Given the description of an element on the screen output the (x, y) to click on. 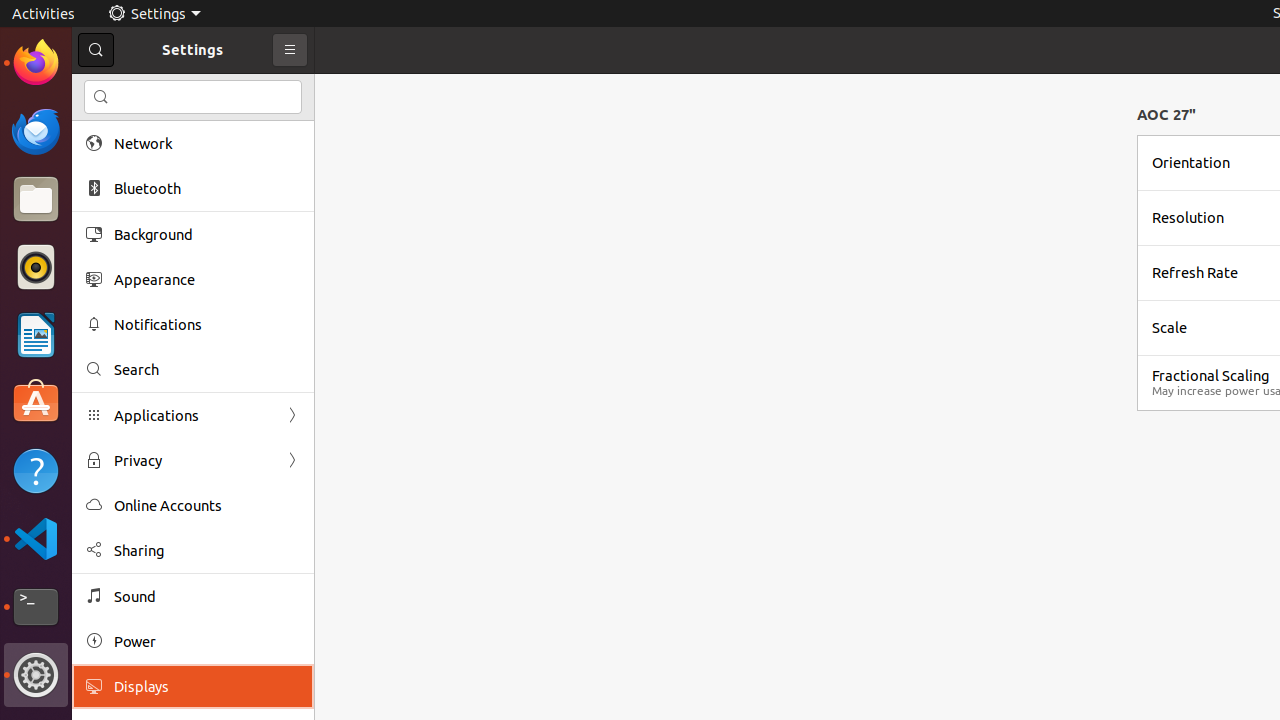
Settings Element type: push-button (36, 675)
Bluetooth Element type: label (207, 188)
Resolution Element type: label (1188, 217)
Online Accounts Element type: label (207, 505)
Primary Menu Element type: toggle-button (290, 50)
